Given the description of an element on the screen output the (x, y) to click on. 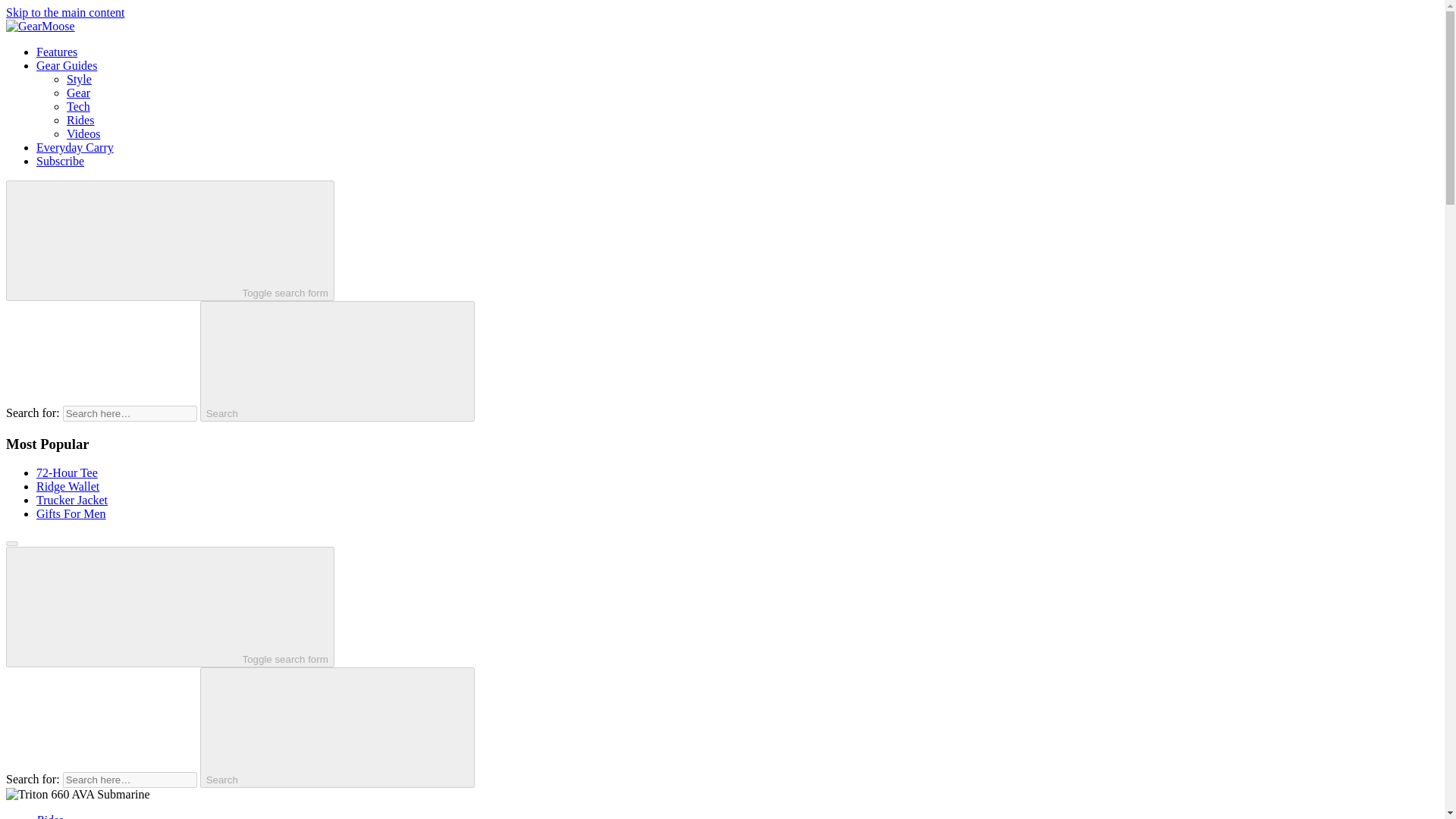
Rides (80, 119)
Toggle search form (169, 607)
Everyday Carry (74, 146)
Trucker Jacket (71, 499)
Gear Guides (66, 65)
Videos (83, 133)
72-Hour Tee (66, 472)
Rides (50, 816)
Search (337, 727)
Style (78, 78)
